Given the description of an element on the screen output the (x, y) to click on. 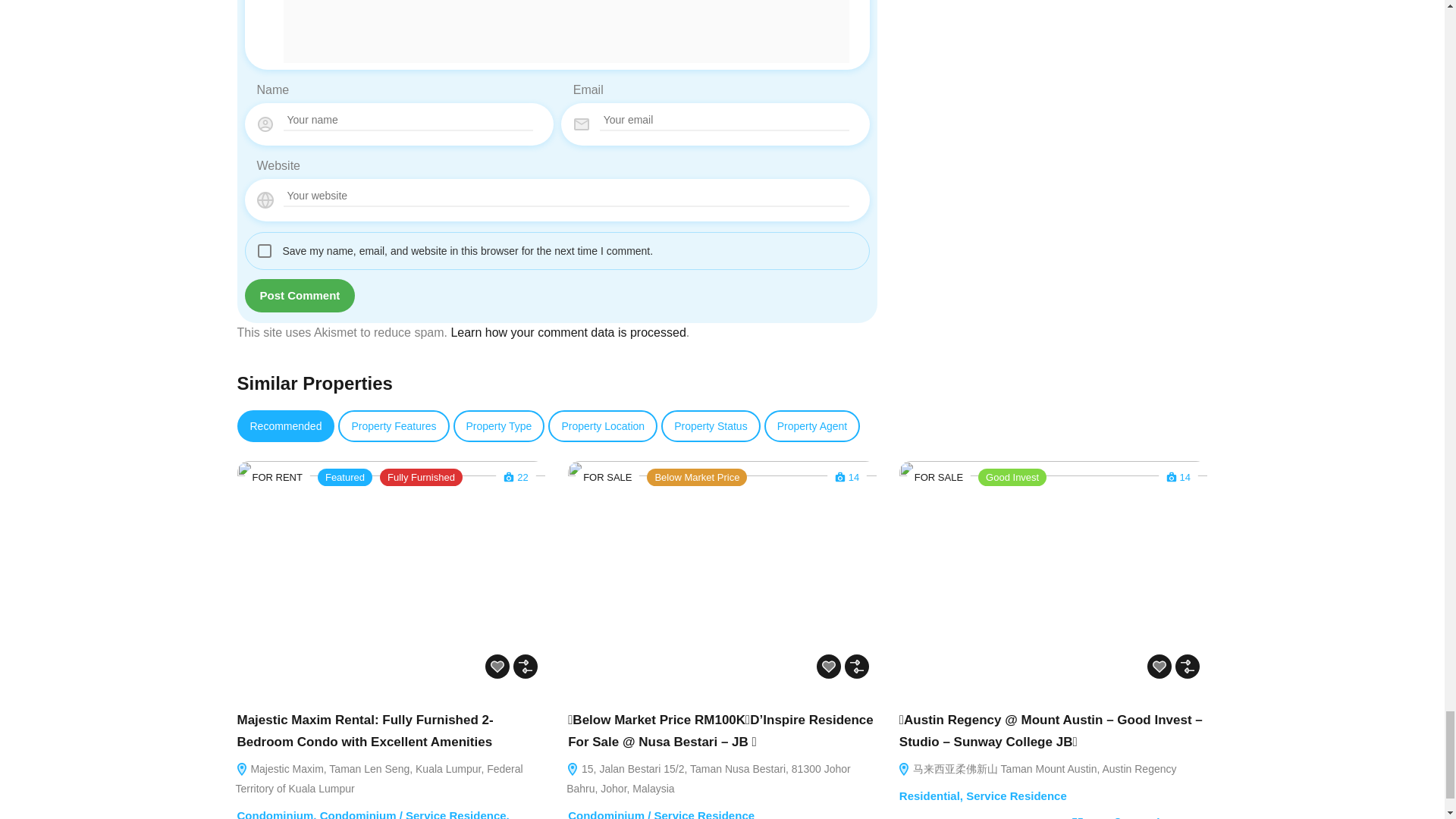
Post Comment (299, 295)
